Given the description of an element on the screen output the (x, y) to click on. 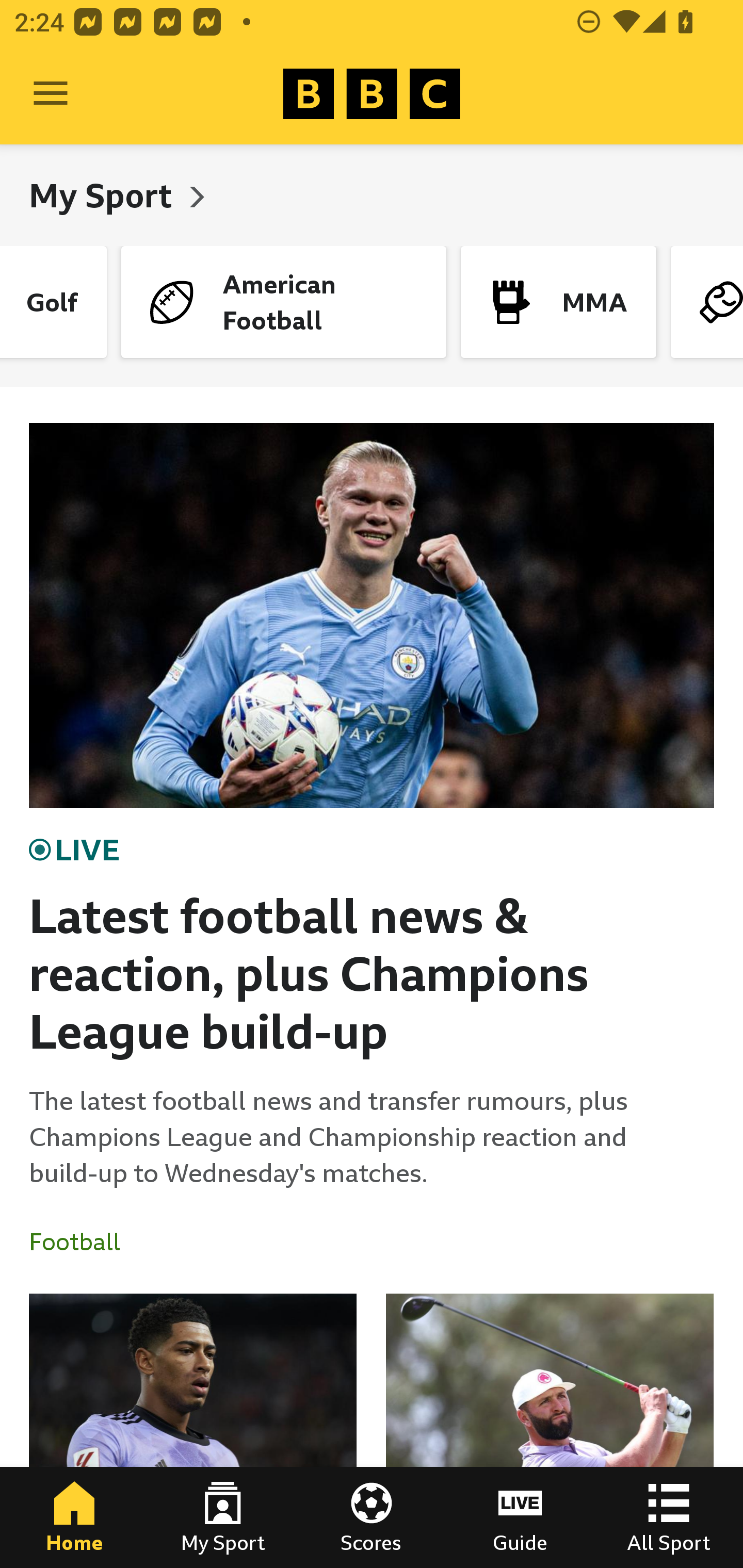
Open Menu (50, 93)
My Sport (104, 195)
Football In the section Football (81, 1241)
Real midfielder Bellingham banned for two games (192, 1430)
My Sport (222, 1517)
Scores (371, 1517)
Guide (519, 1517)
All Sport (668, 1517)
